Given the description of an element on the screen output the (x, y) to click on. 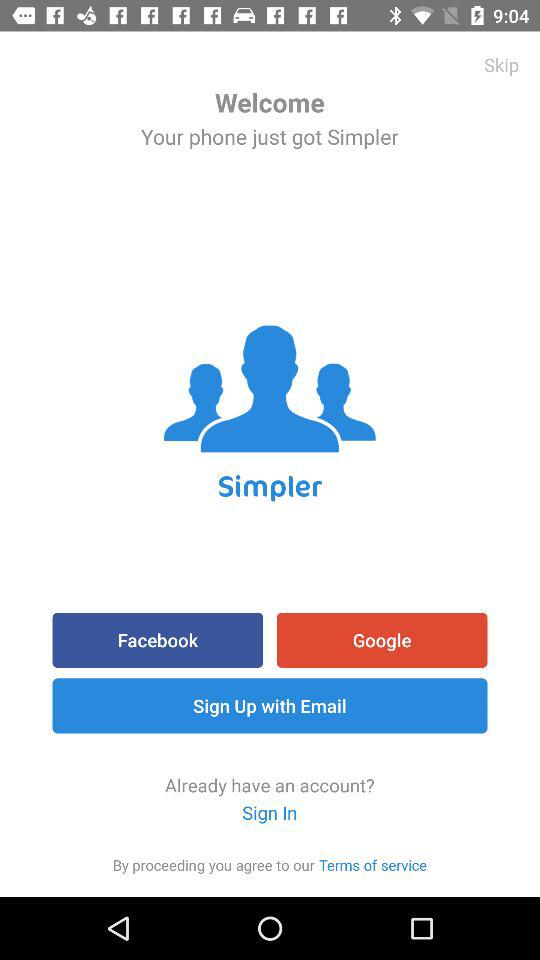
launch the skip icon (501, 64)
